Given the description of an element on the screen output the (x, y) to click on. 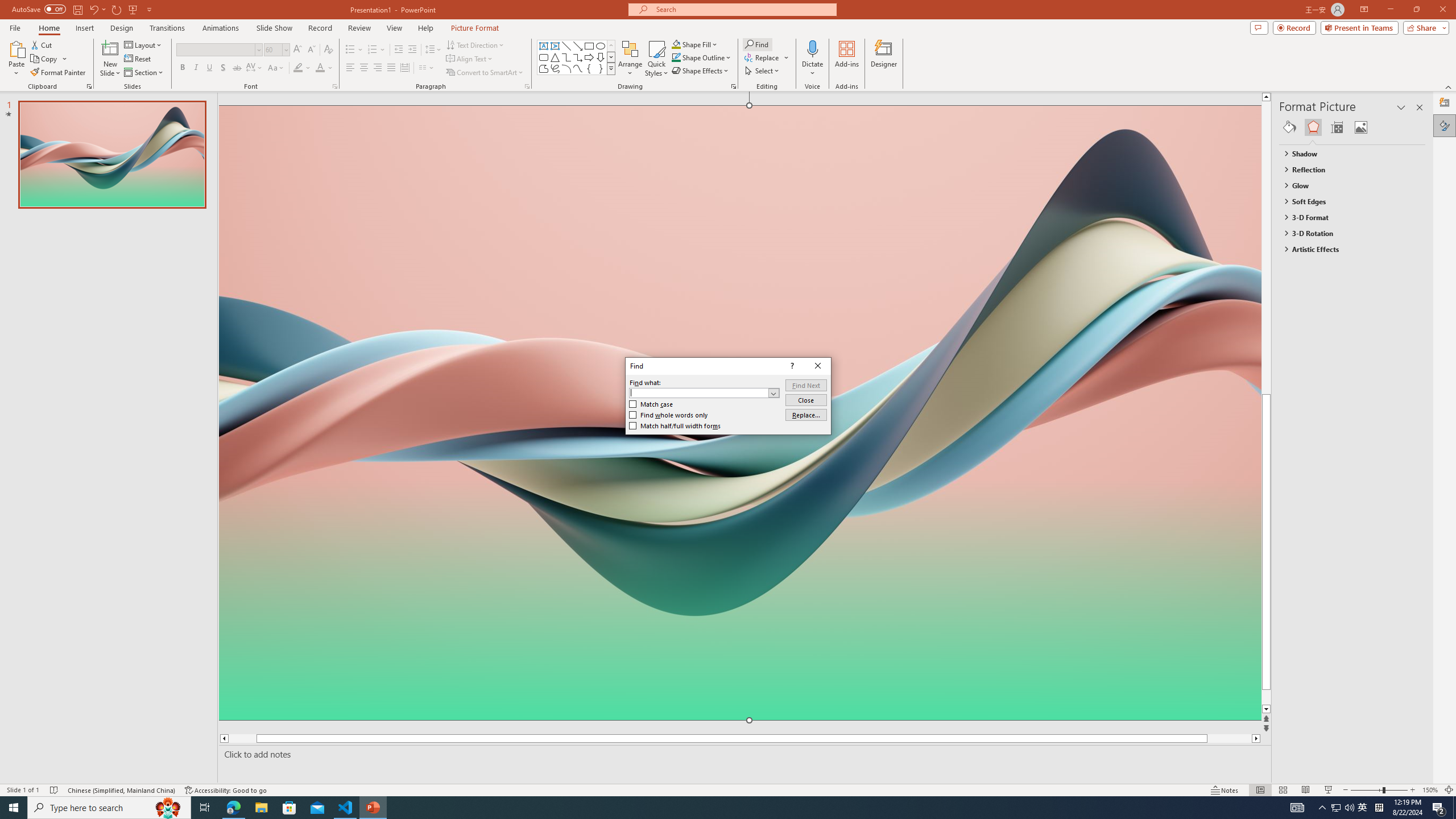
Decrease Indent (398, 49)
Shape Effects (700, 69)
Running applications (707, 807)
Section (144, 72)
